Given the description of an element on the screen output the (x, y) to click on. 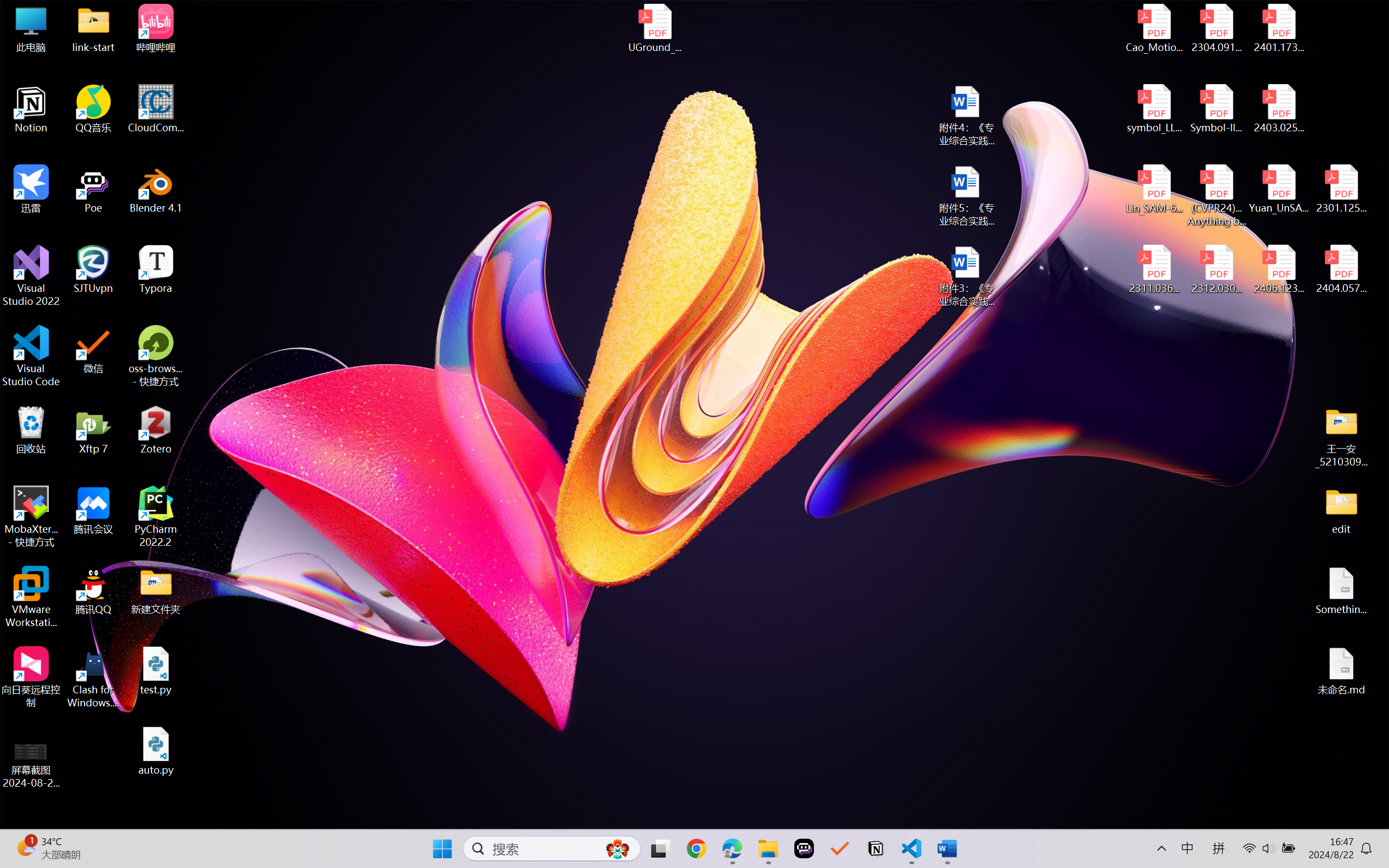
Symbol-llm-v2.pdf (1216, 109)
auto.py (156, 751)
Xftp 7 (93, 430)
test.py (156, 670)
Blender 4.1 (156, 189)
UGround_paper.pdf (654, 28)
